Given the description of an element on the screen output the (x, y) to click on. 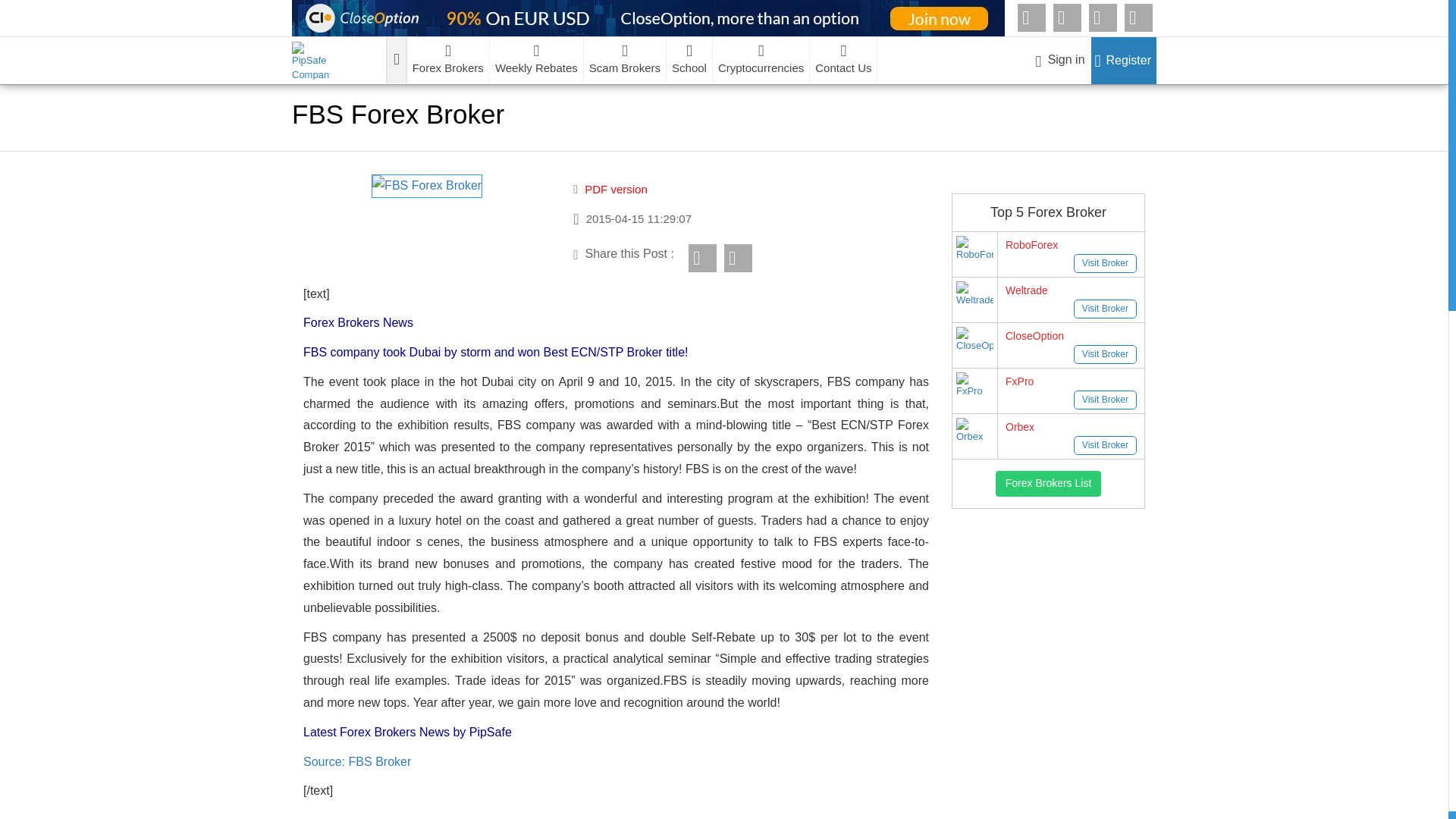
Telegram (1031, 17)
twitter (1102, 17)
Instagram (1138, 17)
Forex Brokers (448, 59)
Skype (1066, 17)
